Given the description of an element on the screen output the (x, y) to click on. 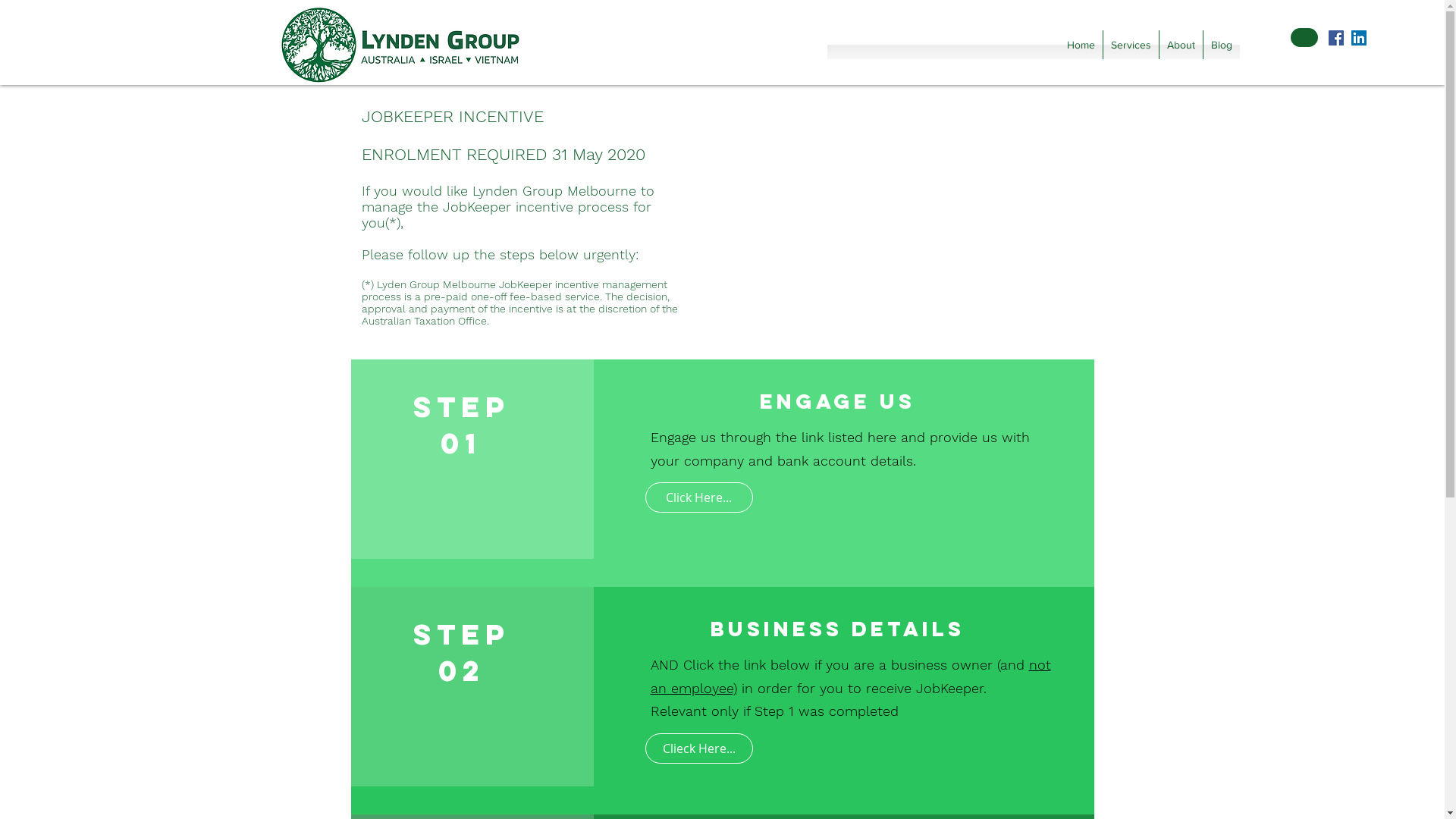
Click Here... Element type: text (698, 497)
Services Element type: text (1130, 44)
About Element type: text (1180, 44)
Home Element type: text (1080, 44)
Clieck Here... Element type: text (698, 748)
Blog Element type: text (1221, 44)
